Given the description of an element on the screen output the (x, y) to click on. 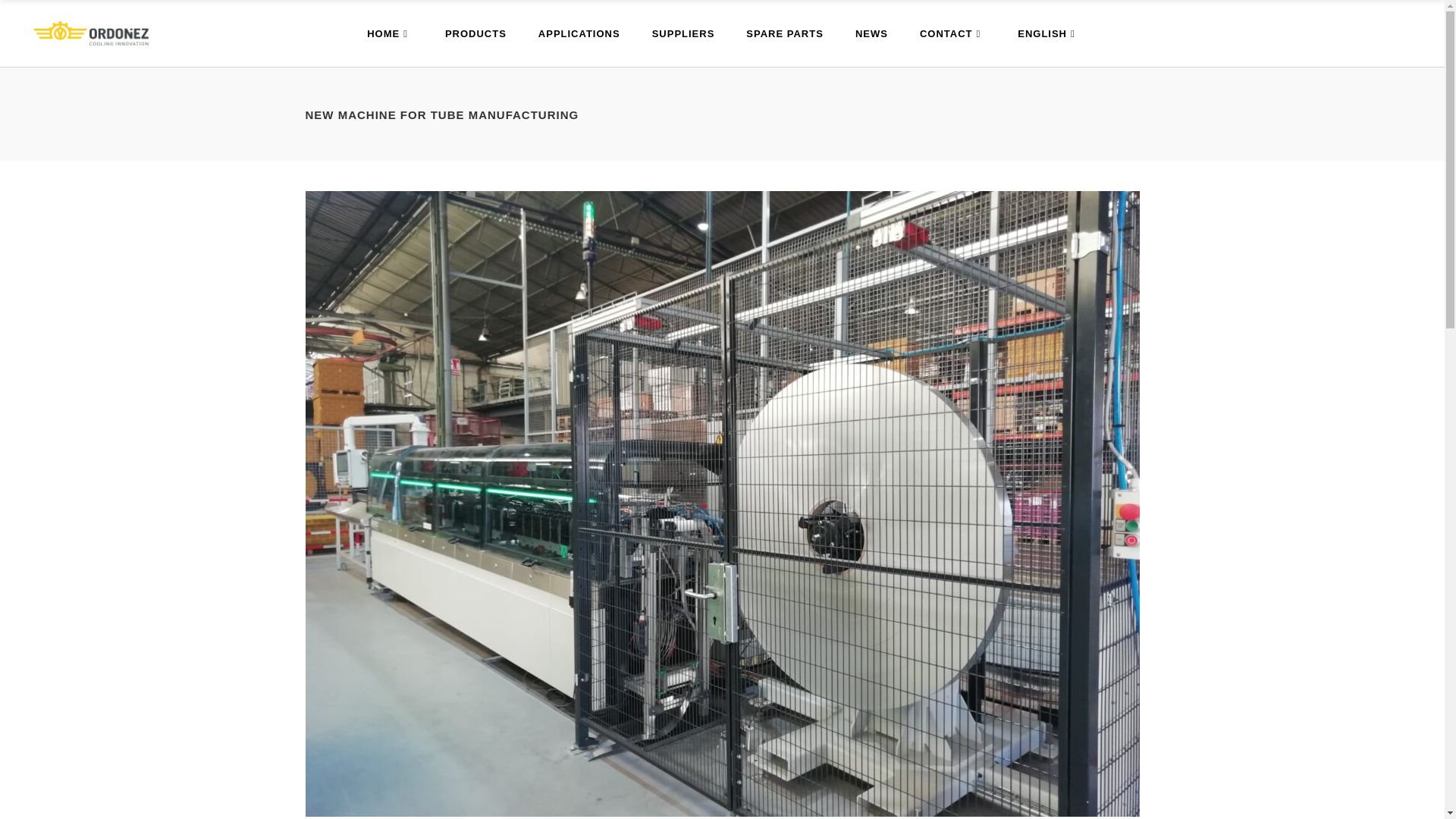
CONTACT (952, 33)
APPLICATIONS (579, 33)
SUPPLIERS (683, 33)
PRODUCTS (475, 33)
ENGLISH (1048, 33)
SPARE PARTS (785, 33)
HOME (389, 33)
NEWS (872, 33)
